Given the description of an element on the screen output the (x, y) to click on. 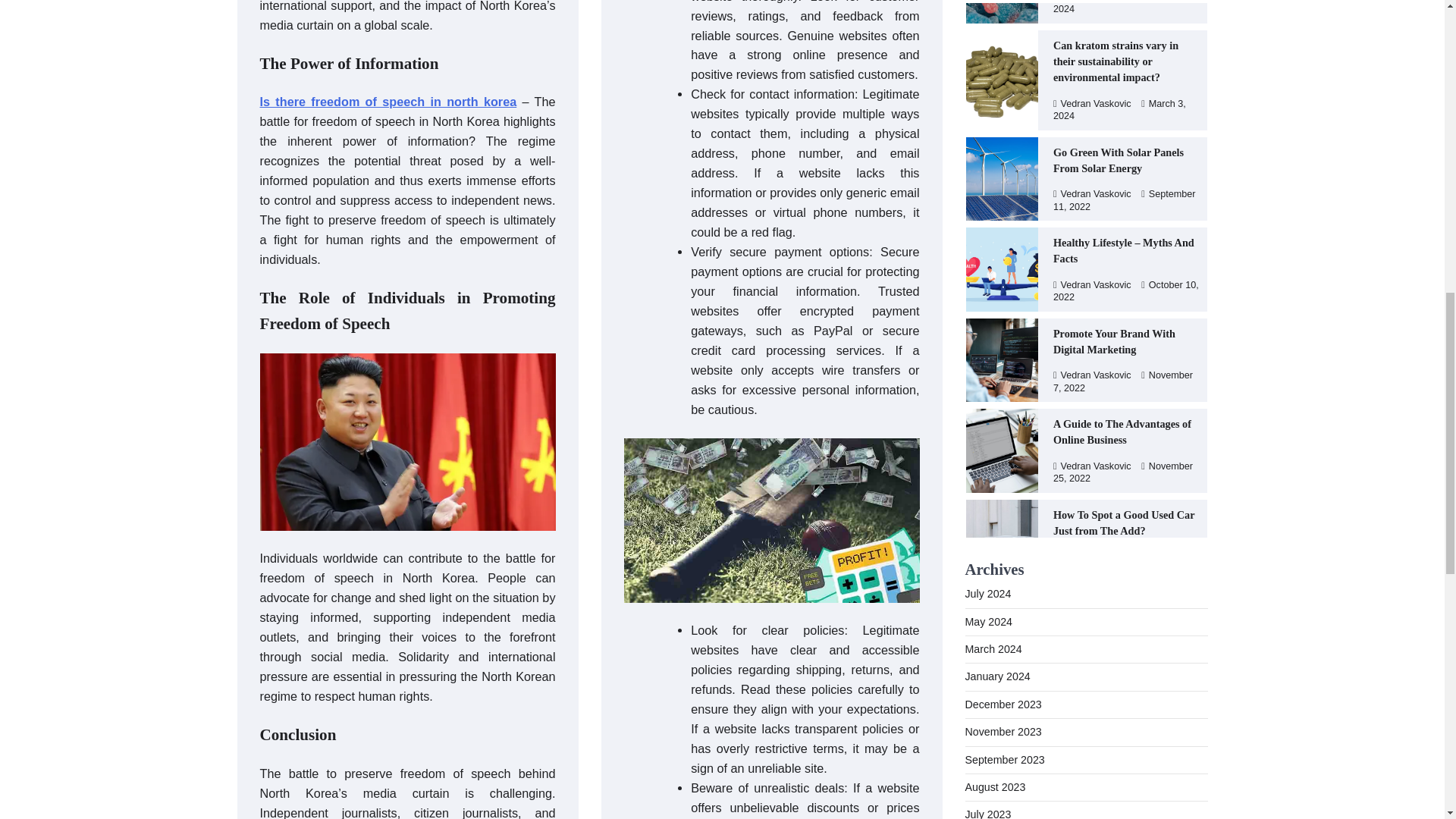
Is there freedom of speech in north korea (387, 101)
